Given the description of an element on the screen output the (x, y) to click on. 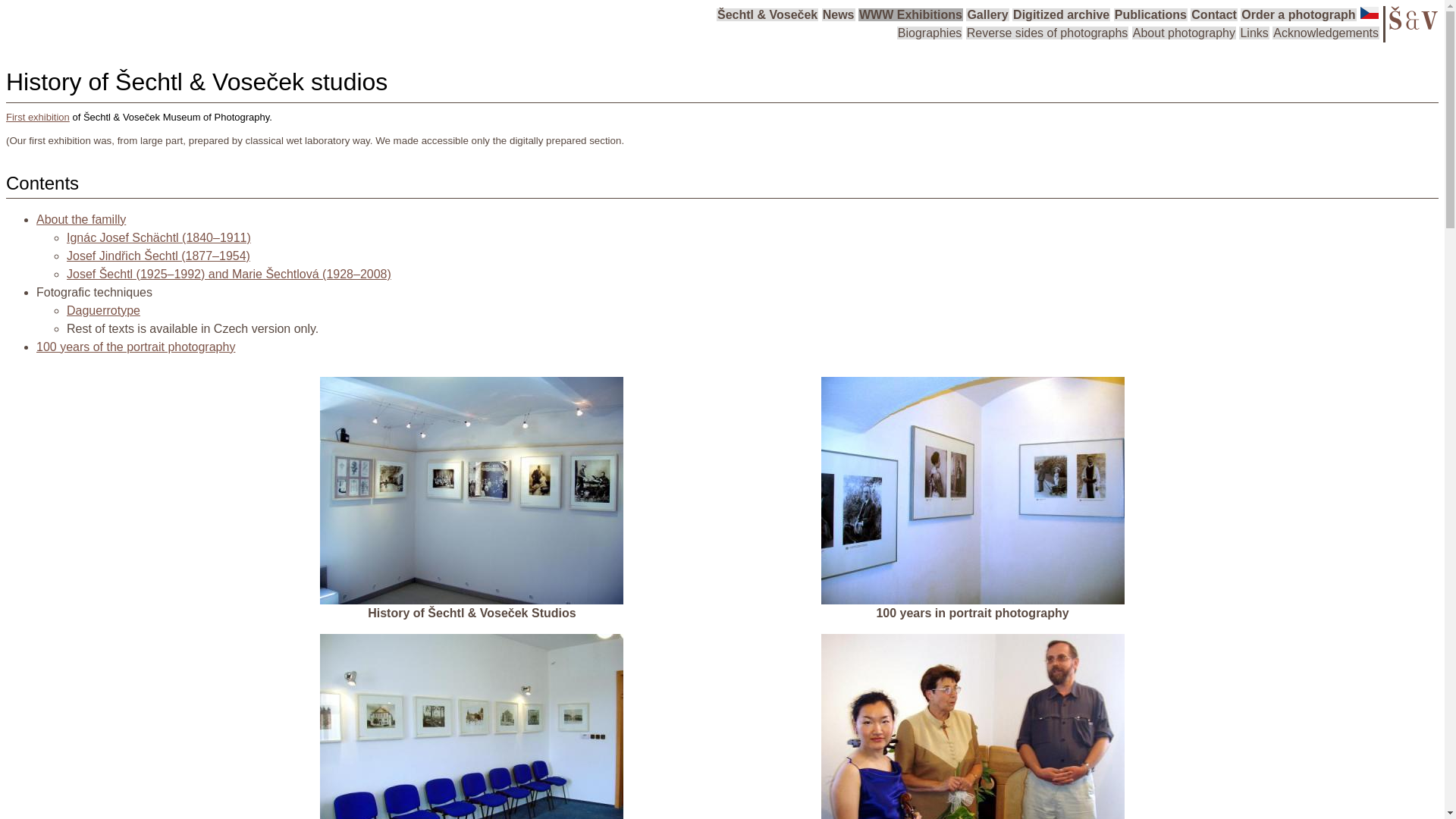
Digitized archive (1060, 14)
Links (1253, 32)
WWW Exhibitions (910, 14)
Order a photograph (1297, 14)
Reverse sides of photographs (1047, 32)
Acknowledgements (1325, 32)
100 years of the portrait photography (135, 346)
Daguerrotype (102, 309)
About photography (1184, 32)
About the familly (80, 219)
Biographies (929, 32)
First exhibition (37, 116)
News (839, 14)
Contact (1214, 14)
Gallery (987, 14)
